Given the description of an element on the screen output the (x, y) to click on. 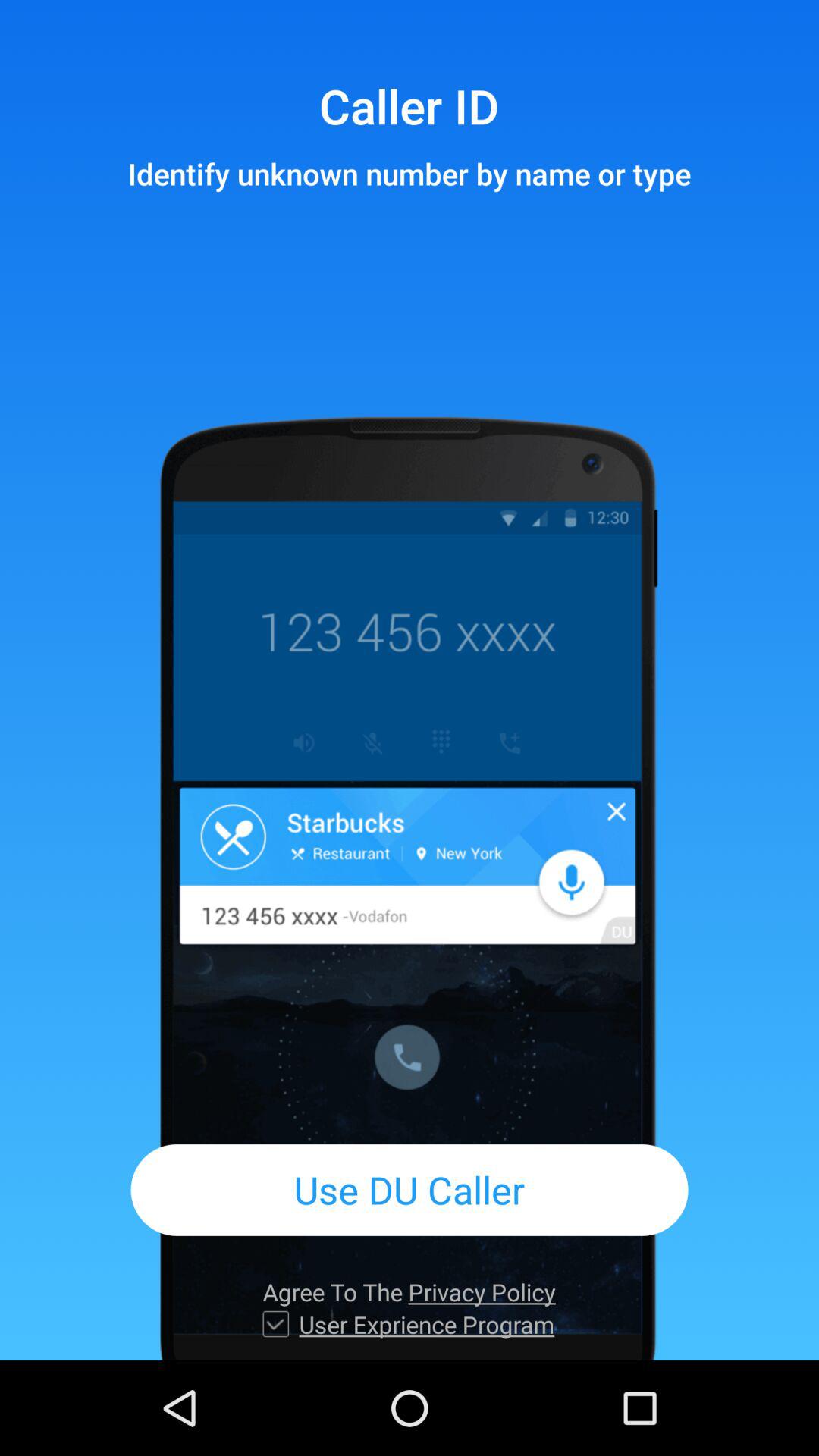
jump to the use du caller app (409, 1189)
